Given the description of an element on the screen output the (x, y) to click on. 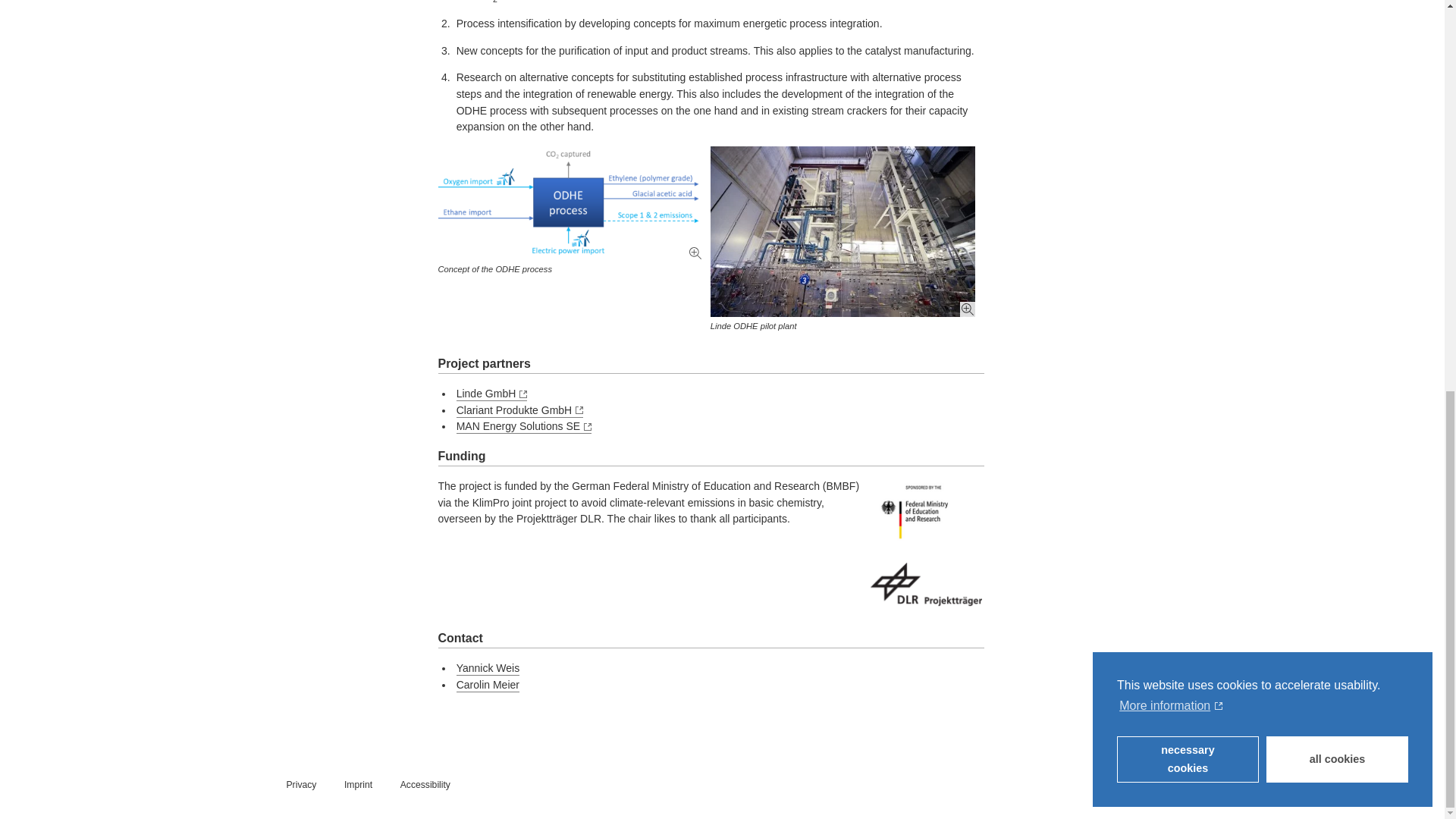
Carolin Meier (488, 685)
Yannick Weis (488, 668)
Clariant Produkte GmbH (520, 410)
Linde GmbH (492, 394)
Linde ODHE pilot plant (842, 231)
Concept of the ODHE process (570, 203)
MAN Energy Solutions SE (524, 427)
